Given the description of an element on the screen output the (x, y) to click on. 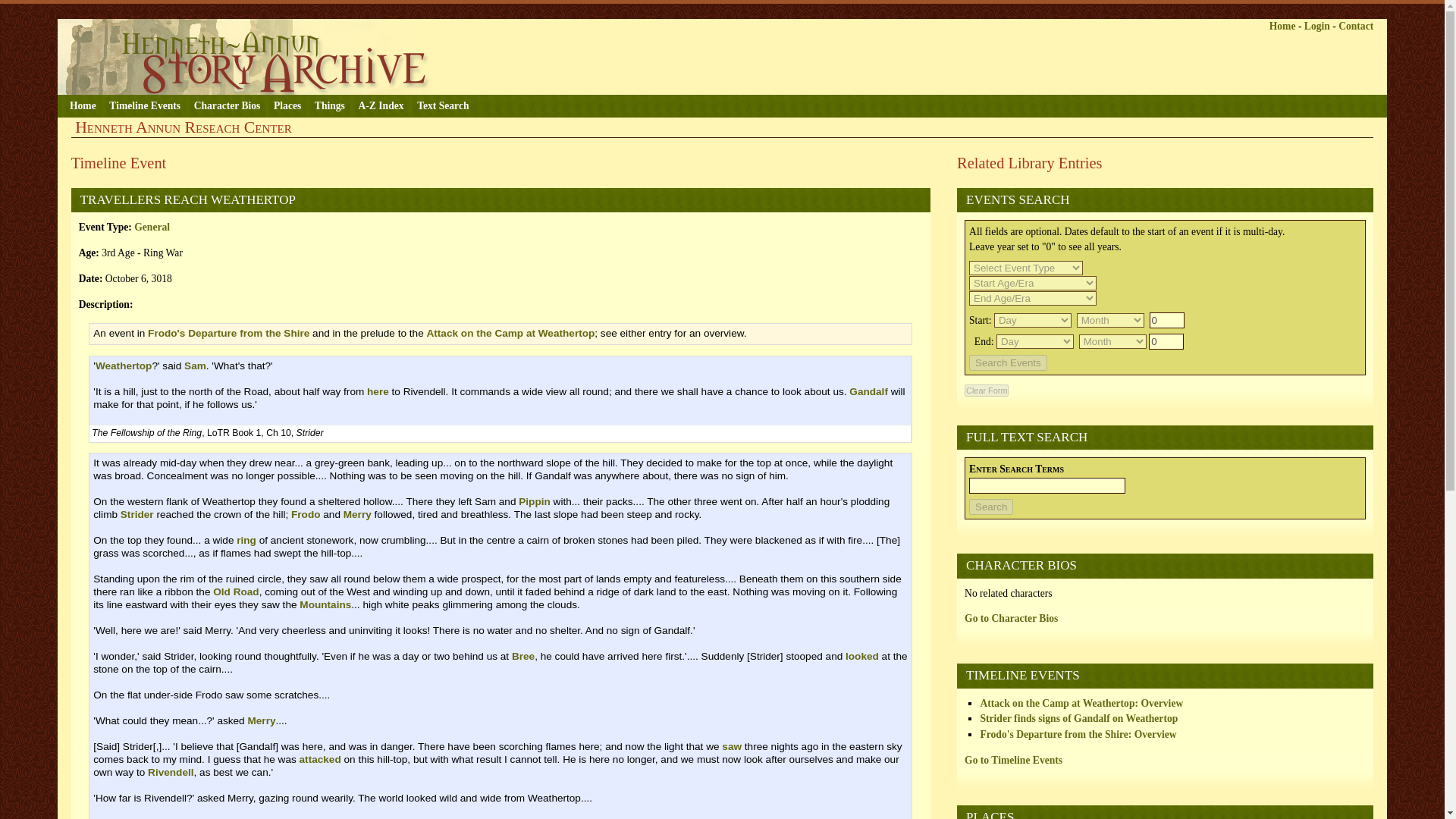
Merry (261, 720)
Skip to logon (154, 11)
Search Events (1007, 362)
Mountains (324, 604)
Click to view Attack on the Camp at Weathertop: Overview (1080, 703)
here (377, 391)
Strider (137, 514)
Login (1317, 25)
Places (284, 106)
